Given the description of an element on the screen output the (x, y) to click on. 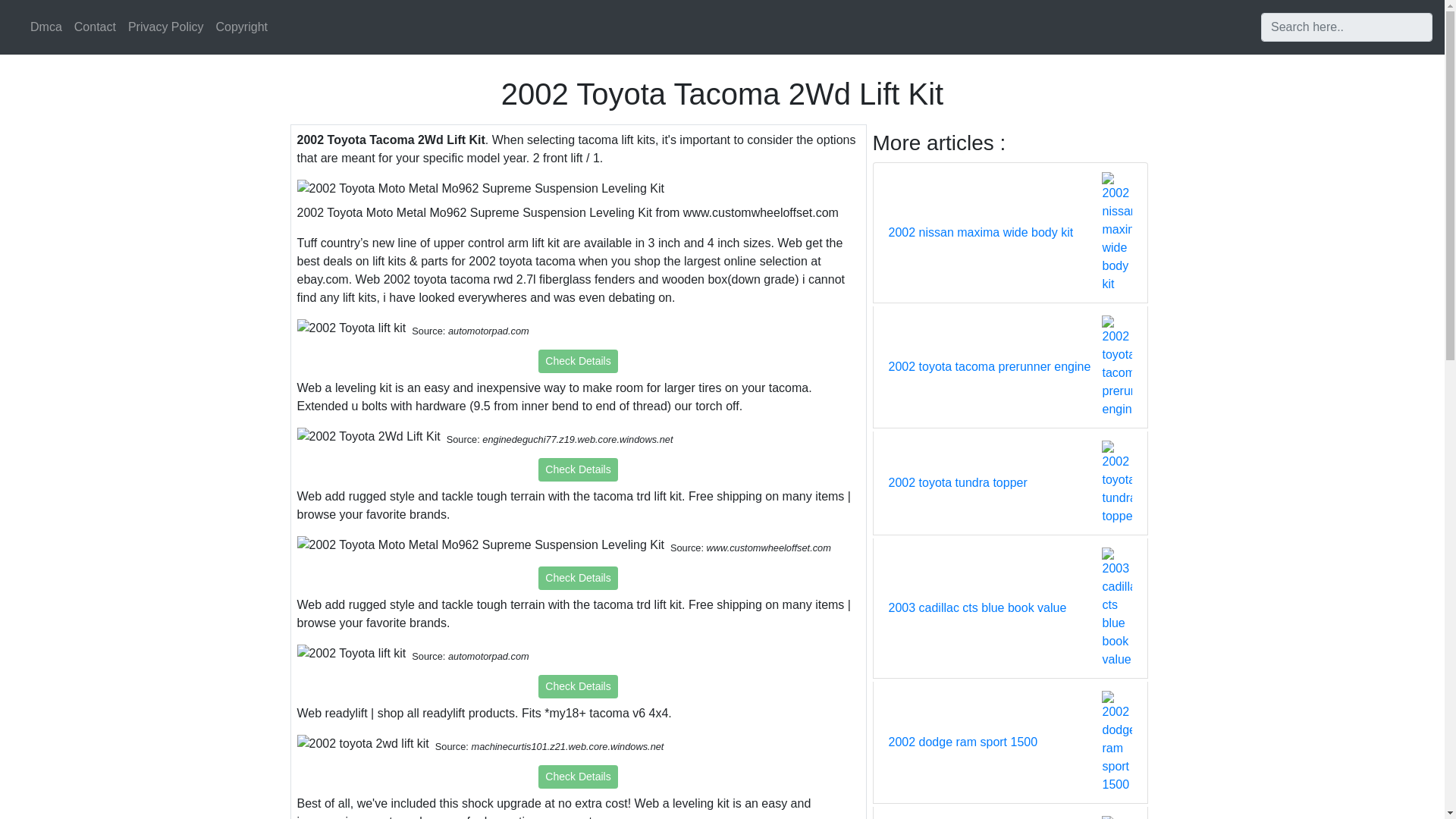
2003 cadillac cts blue book value (977, 607)
Dmca (46, 27)
2002 toyota tacoma prerunner engine (989, 366)
Check Details (577, 469)
Contact (95, 27)
2002 toyota tundra topper (957, 483)
Check Details (577, 361)
Check Details (577, 776)
Check Details (577, 577)
2002 nissan maxima wide body kit (981, 232)
